Given the description of an element on the screen output the (x, y) to click on. 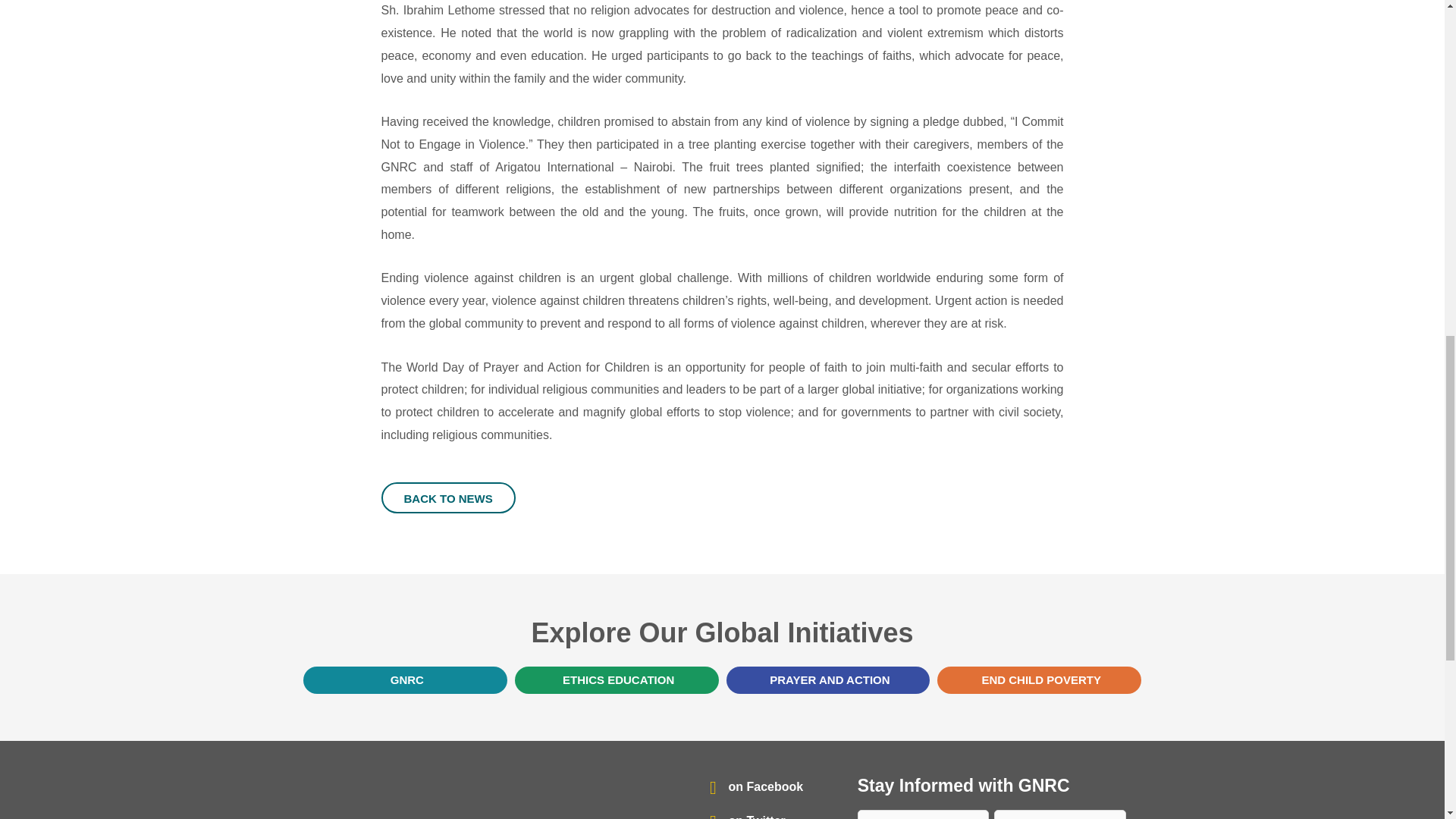
Last Name (1059, 814)
First Name (923, 814)
